Given the description of an element on the screen output the (x, y) to click on. 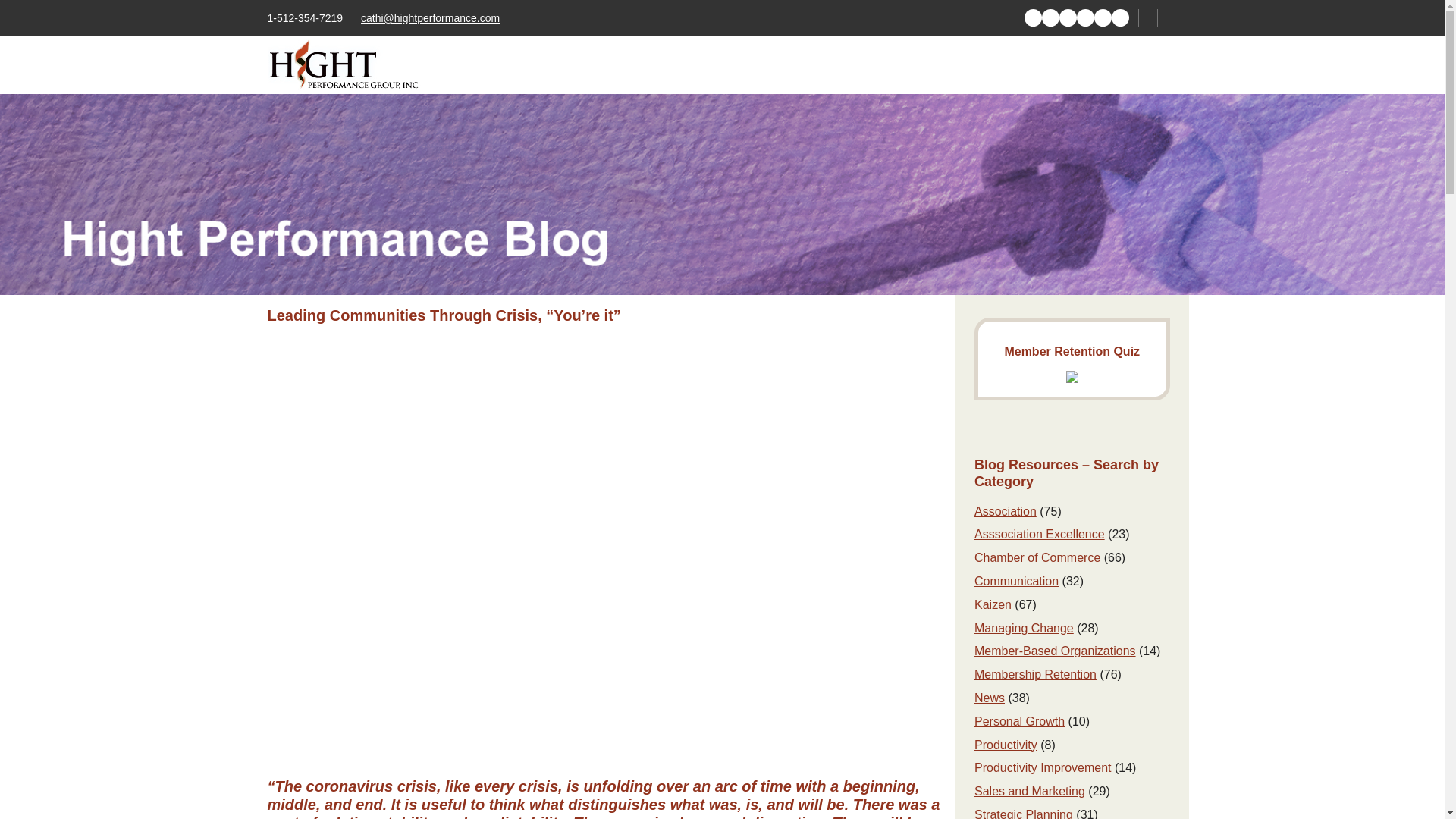
Membership Retention (1035, 674)
Association (1005, 511)
Productivity Improvement (1043, 767)
Sales and Marketing (1029, 790)
Hight Performance (344, 63)
Chamber of Commerce (1037, 557)
Asssociation Excellence (1039, 533)
Managing Change (1024, 627)
News (989, 697)
Strategic Planning (1023, 813)
